Given the description of an element on the screen output the (x, y) to click on. 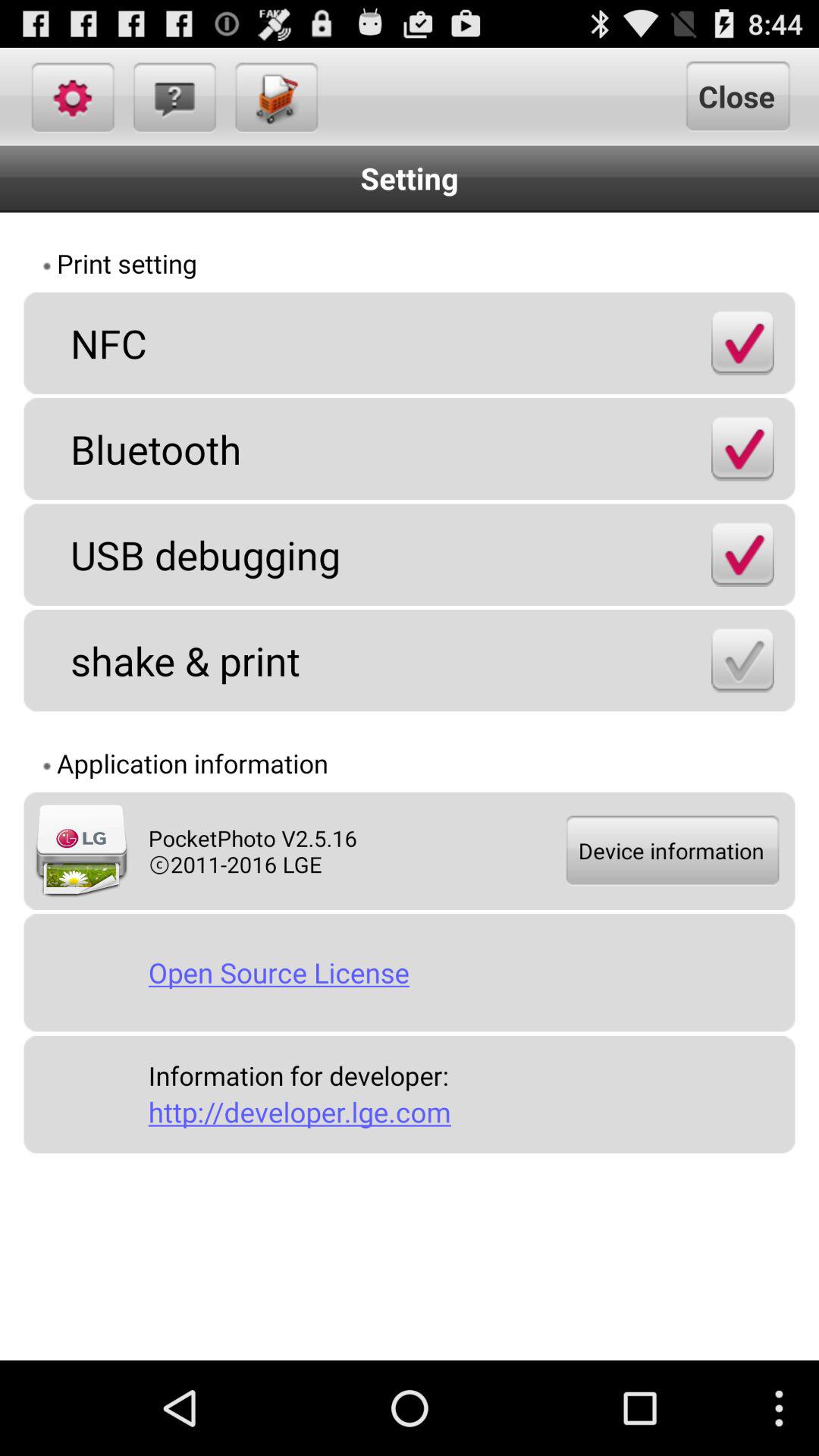
click the icon next to the shake & print app (742, 659)
